Given the description of an element on the screen output the (x, y) to click on. 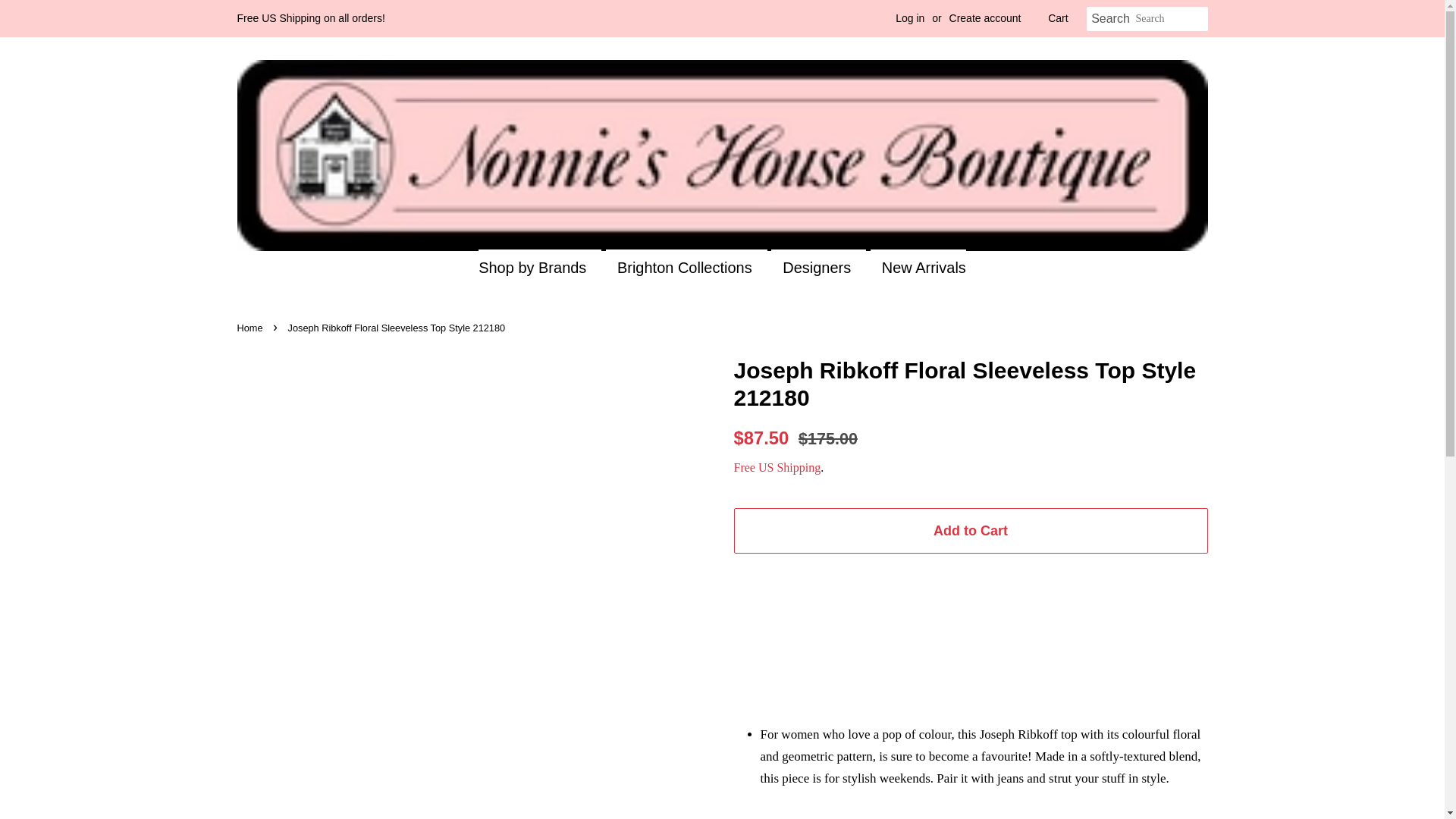
Log in (909, 18)
Search (1110, 18)
Back to the frontpage (250, 327)
Shop by Brands (540, 267)
Create account (985, 18)
Cart (1057, 18)
Free US Shipping on all orders! (309, 18)
